Given the description of an element on the screen output the (x, y) to click on. 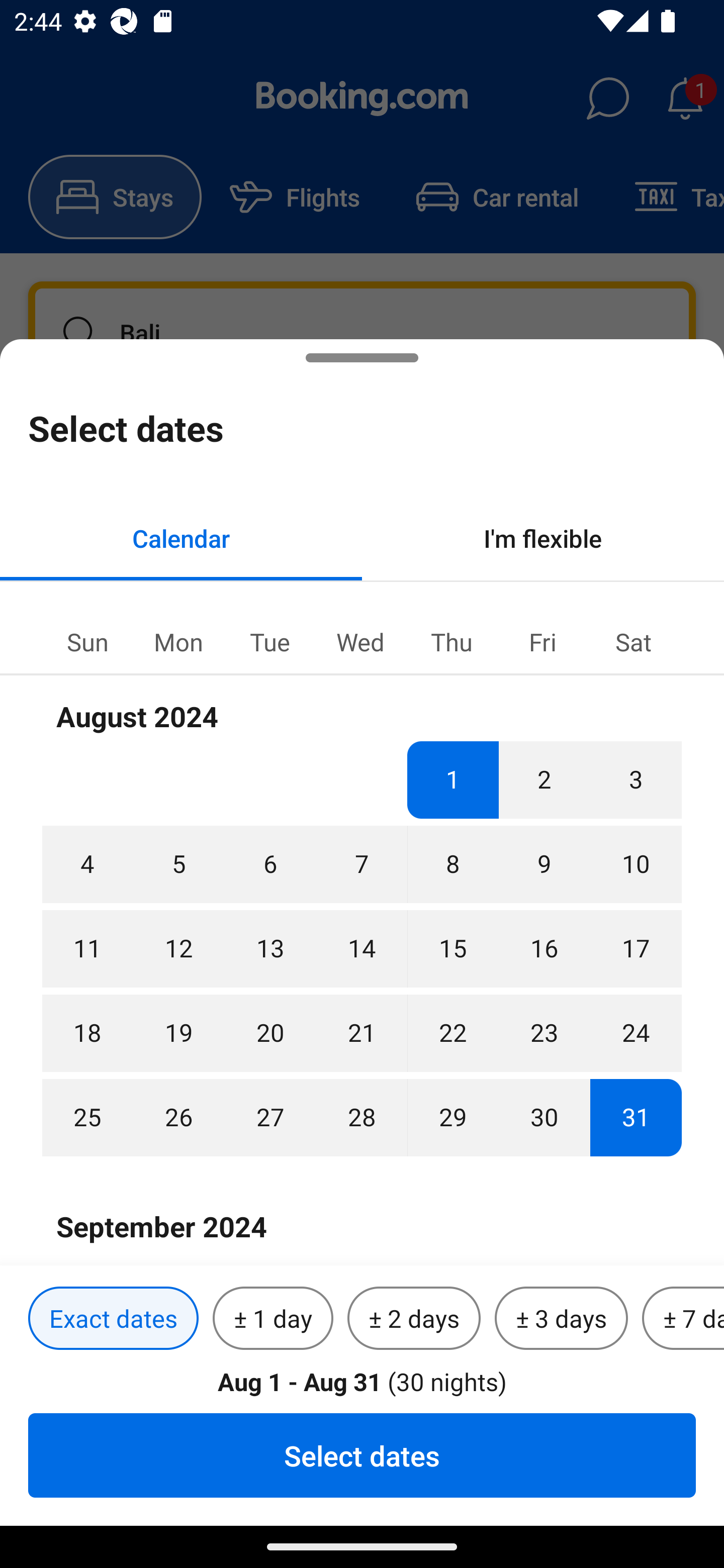
I'm flexible (543, 537)
Exact dates (113, 1318)
± 1 day (272, 1318)
± 2 days (413, 1318)
± 3 days (560, 1318)
± 7 days (683, 1318)
Select dates (361, 1454)
